Given the description of an element on the screen output the (x, y) to click on. 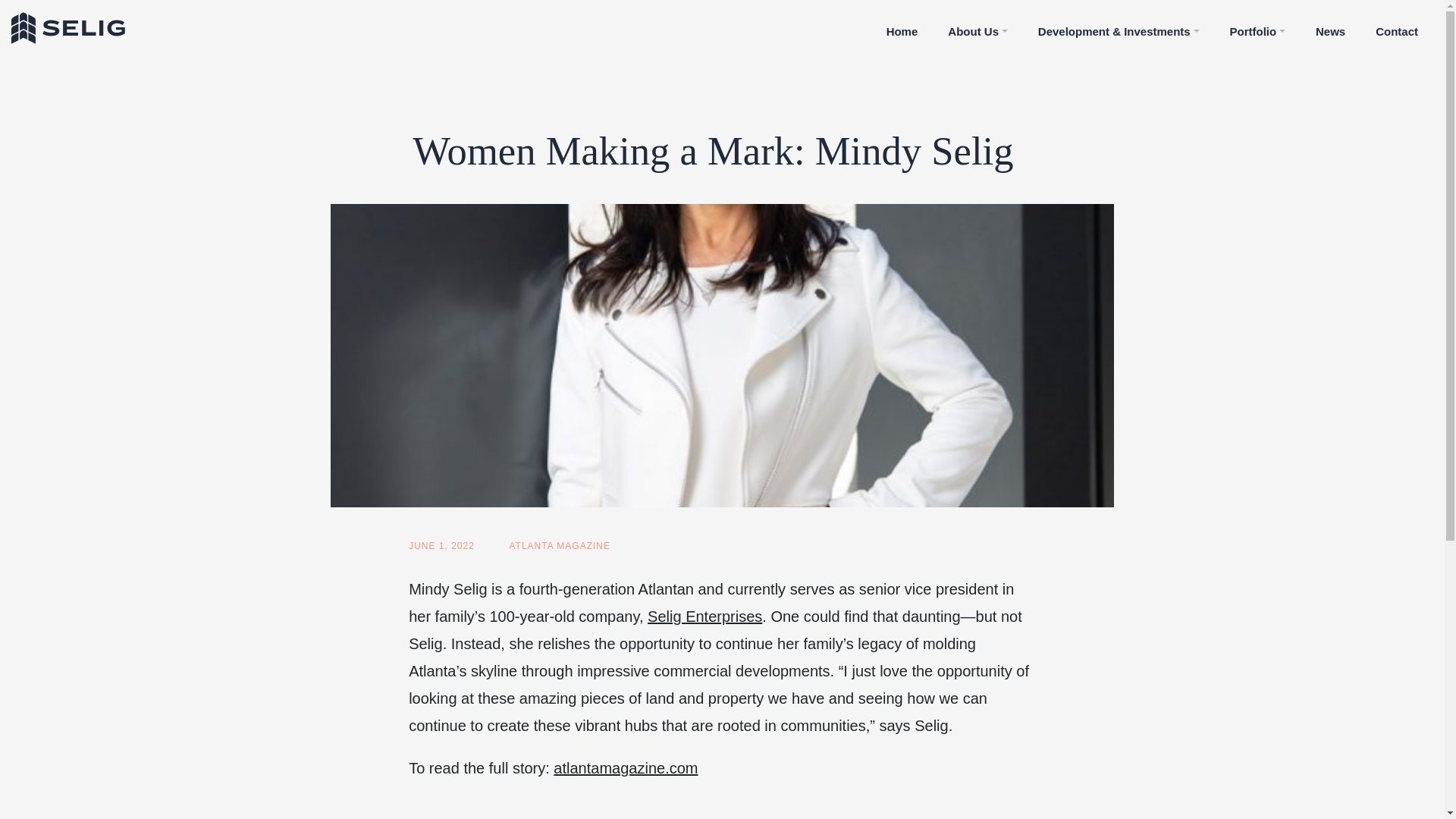
atlantamagazine.com (625, 768)
News (1329, 27)
Contact (1395, 27)
About Us (977, 27)
Home (901, 27)
Contact (1395, 27)
Portfolio (1257, 27)
Portfolio (1257, 27)
About Us (977, 27)
News (1329, 27)
